Given the description of an element on the screen output the (x, y) to click on. 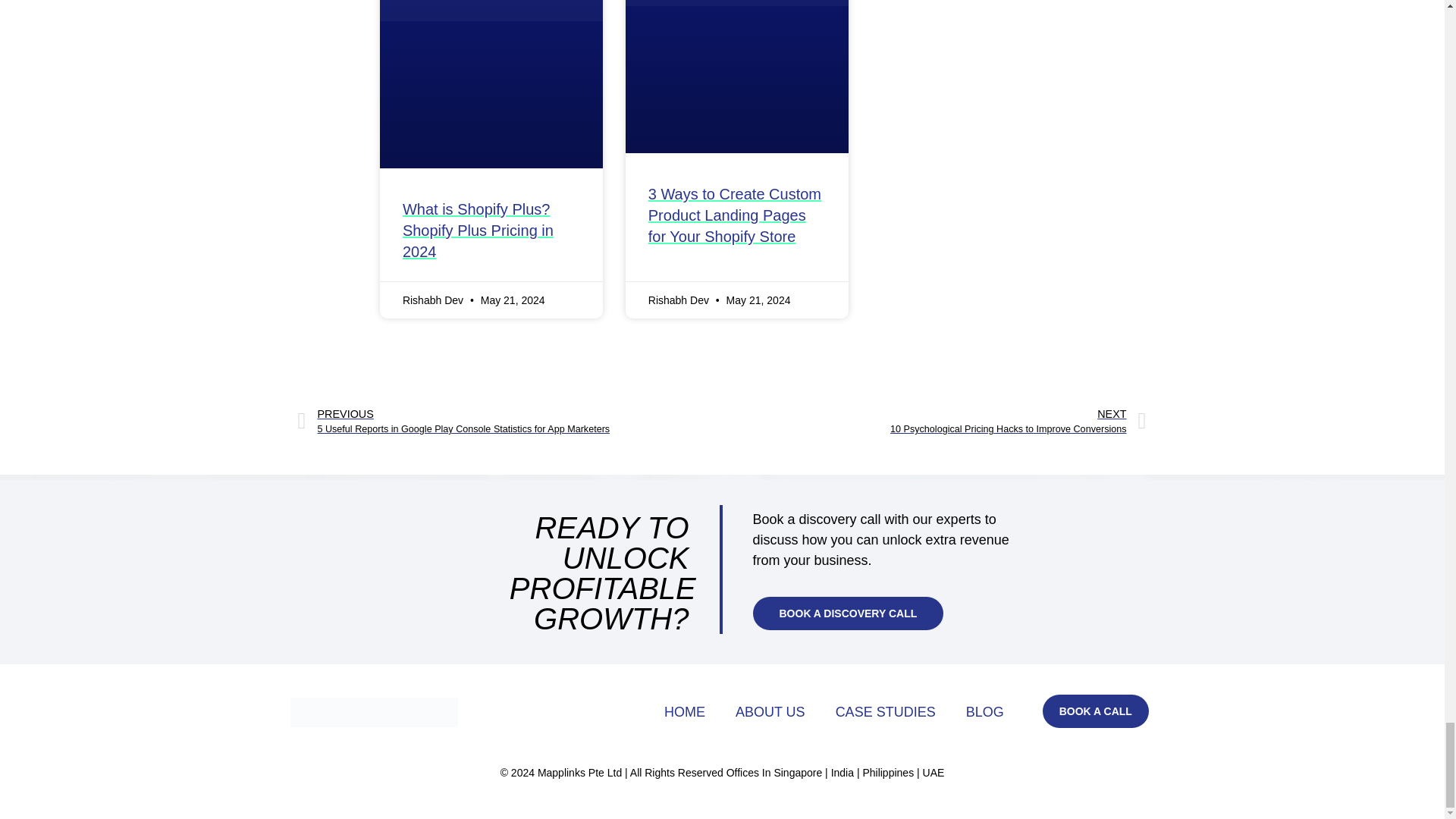
What is Shopify Plus? Shopify Plus Pricing in 2024 (478, 230)
BOOK A DISCOVERY CALL (847, 613)
